Given the description of an element on the screen output the (x, y) to click on. 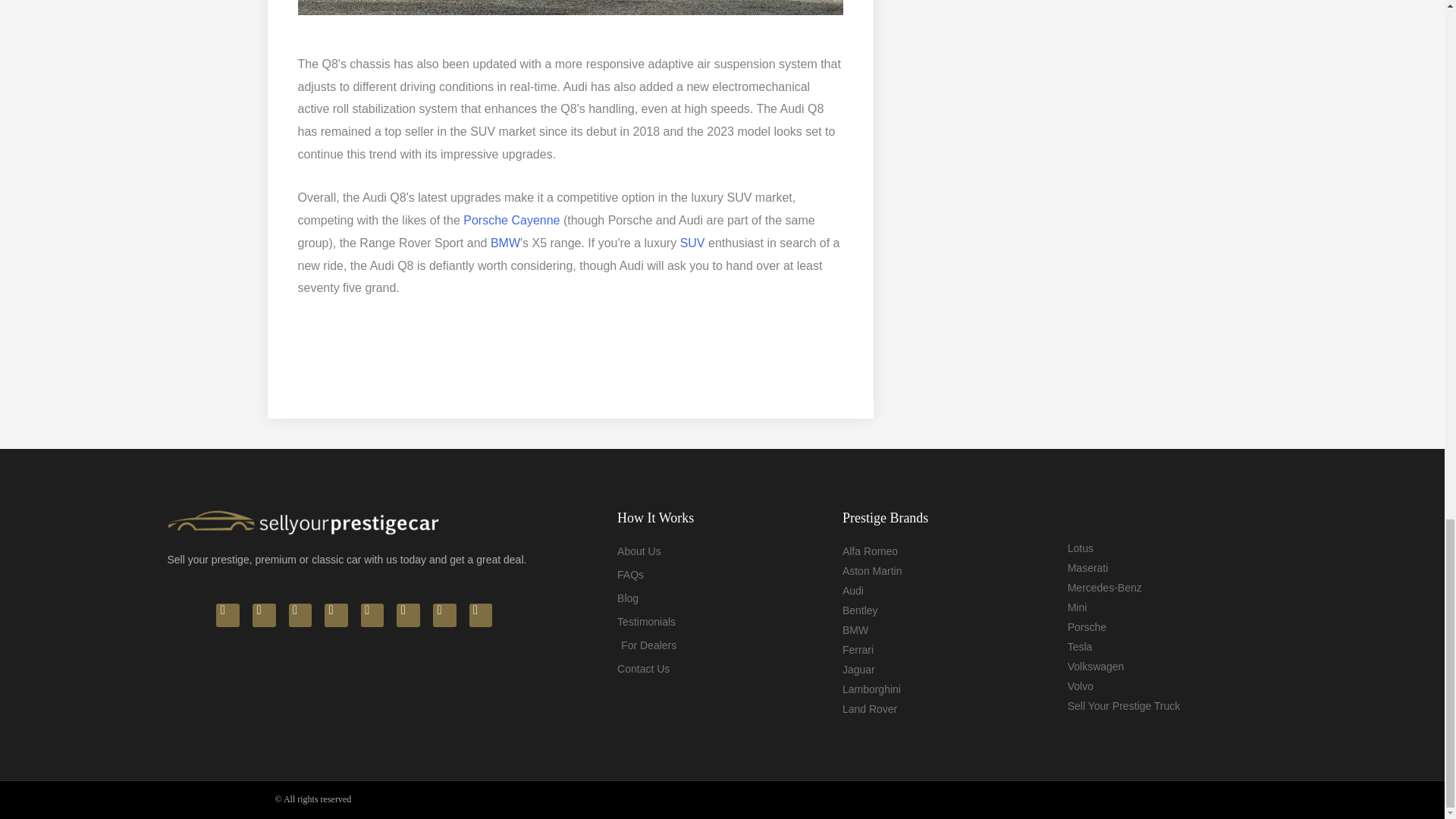
BMW (504, 242)
SUV (691, 242)
Porsche Cayenne (511, 219)
